Given the description of an element on the screen output the (x, y) to click on. 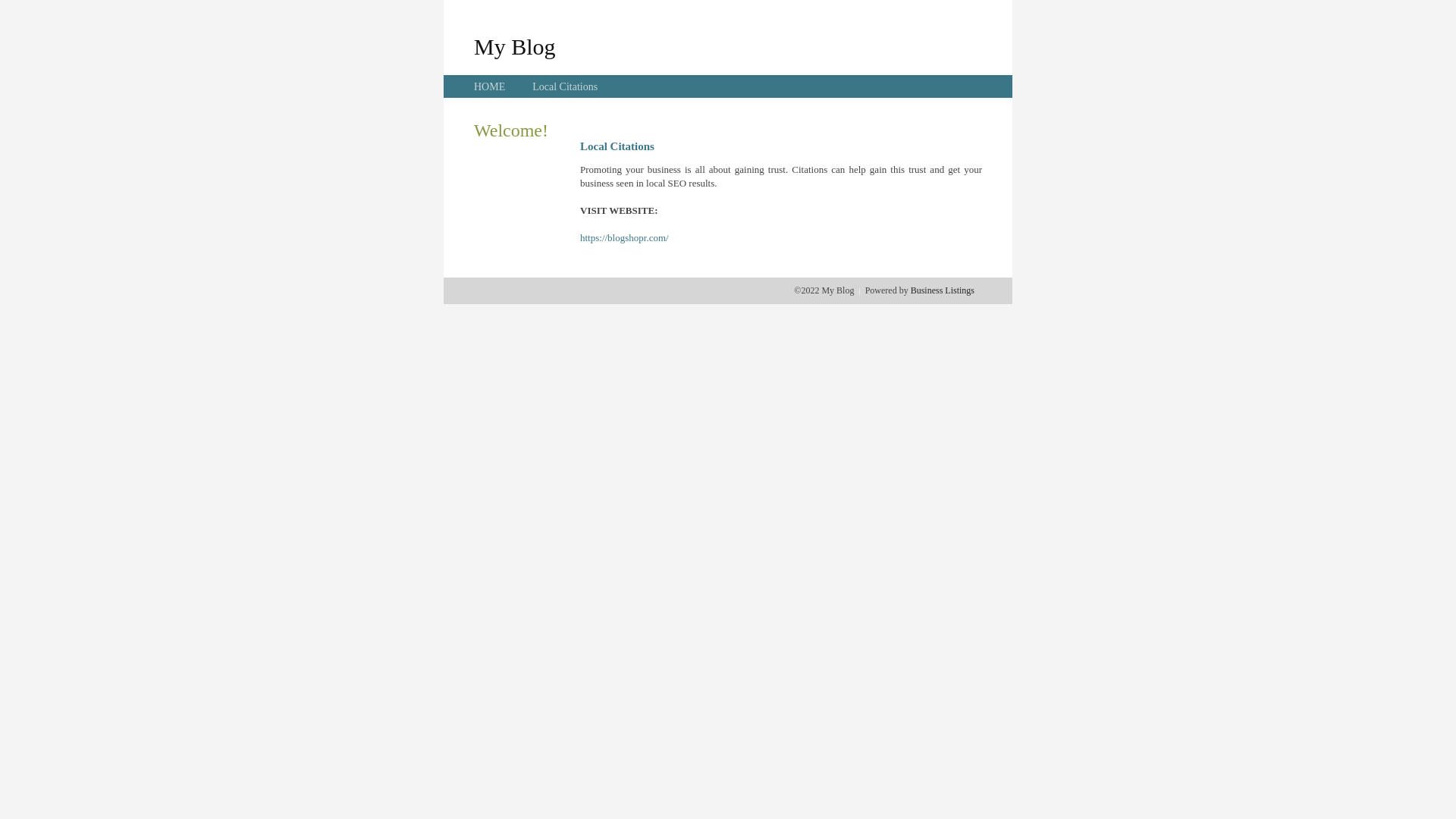
Business Listings Element type: text (942, 290)
https://blogshopr.com/ Element type: text (624, 237)
My Blog Element type: text (514, 46)
Local Citations Element type: text (564, 86)
HOME Element type: text (489, 86)
